Given the description of an element on the screen output the (x, y) to click on. 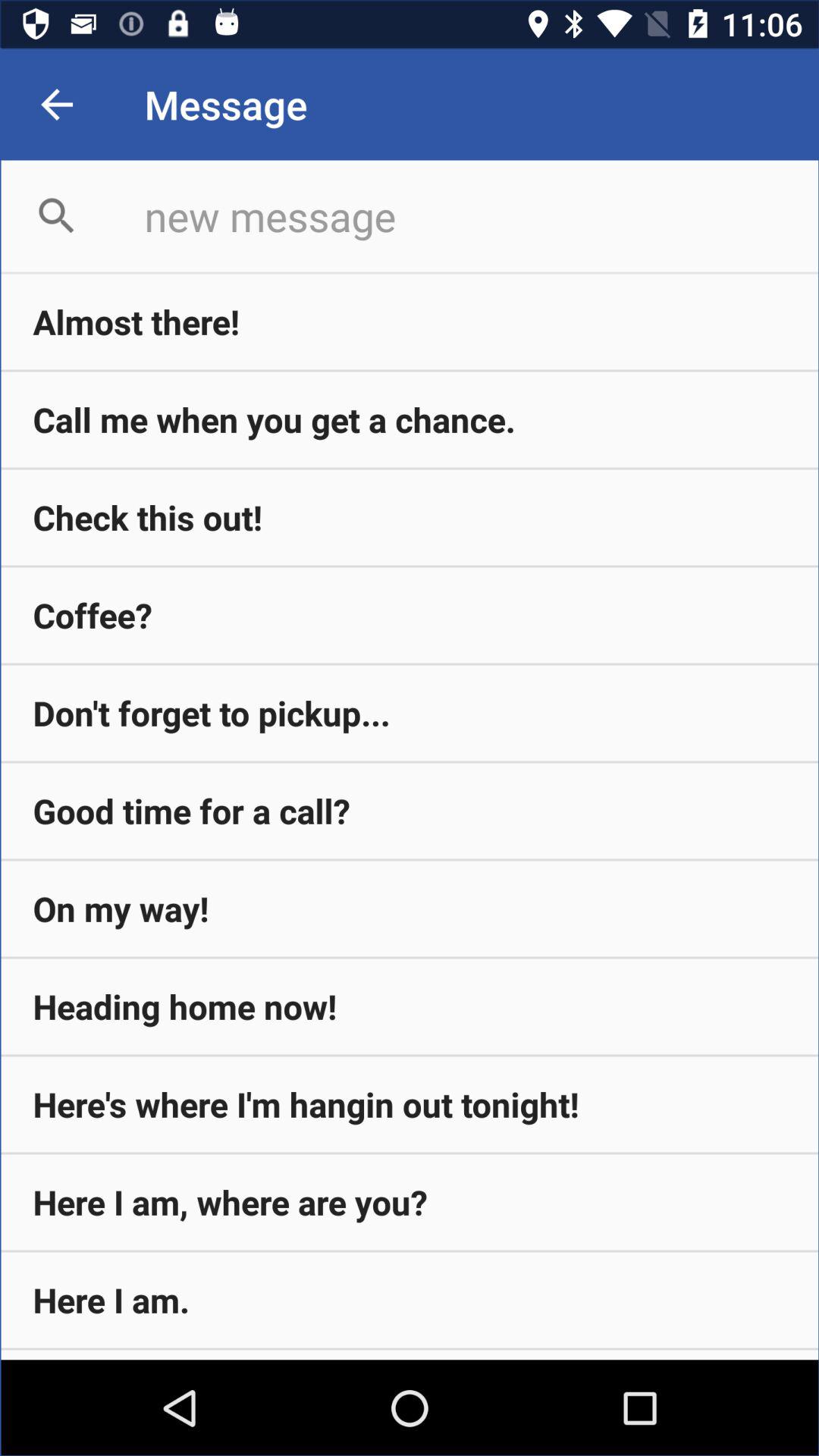
jump until the here s where item (409, 1104)
